Given the description of an element on the screen output the (x, y) to click on. 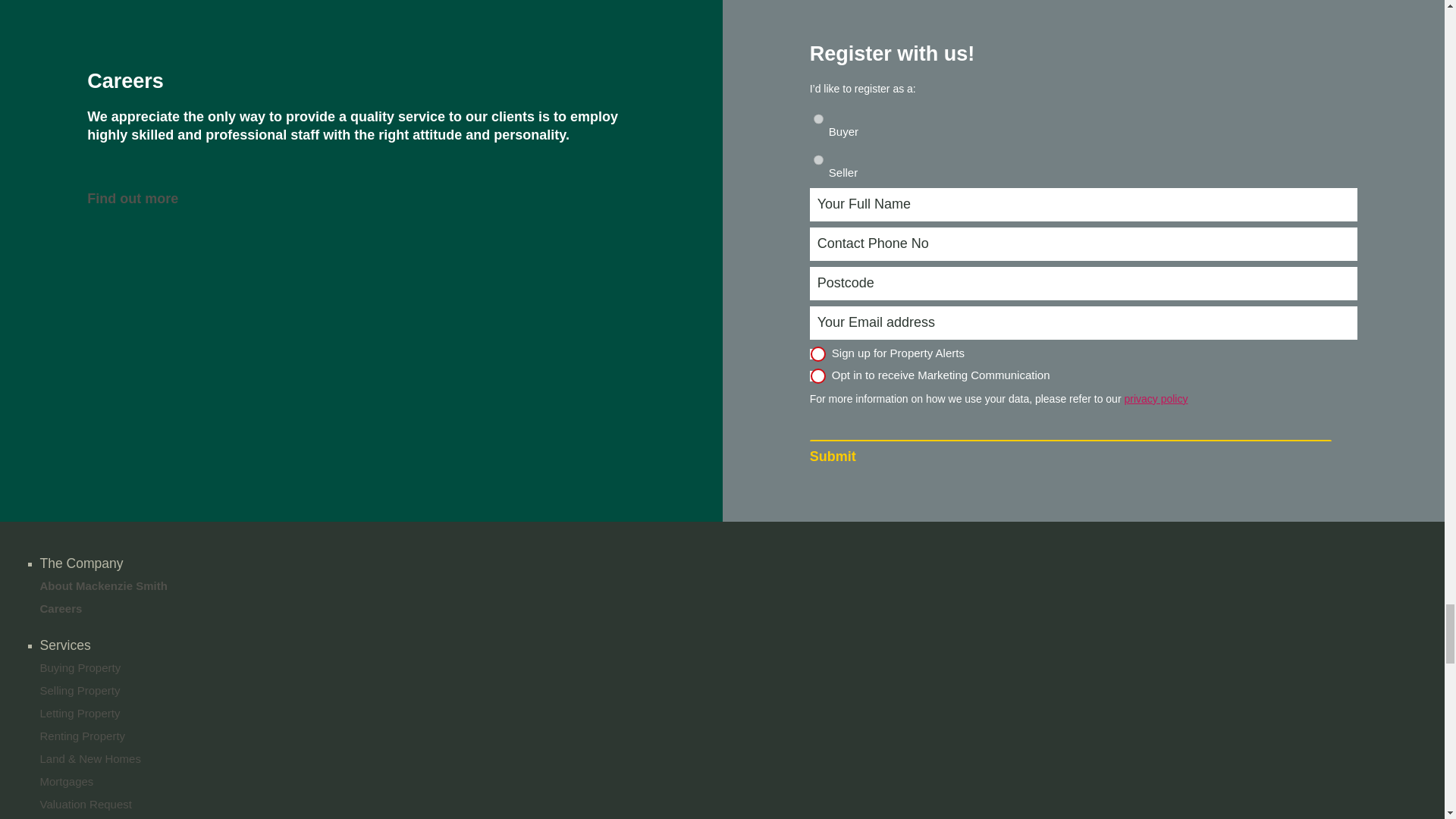
Seller (818, 159)
Buyer (818, 118)
